Given the description of an element on the screen output the (x, y) to click on. 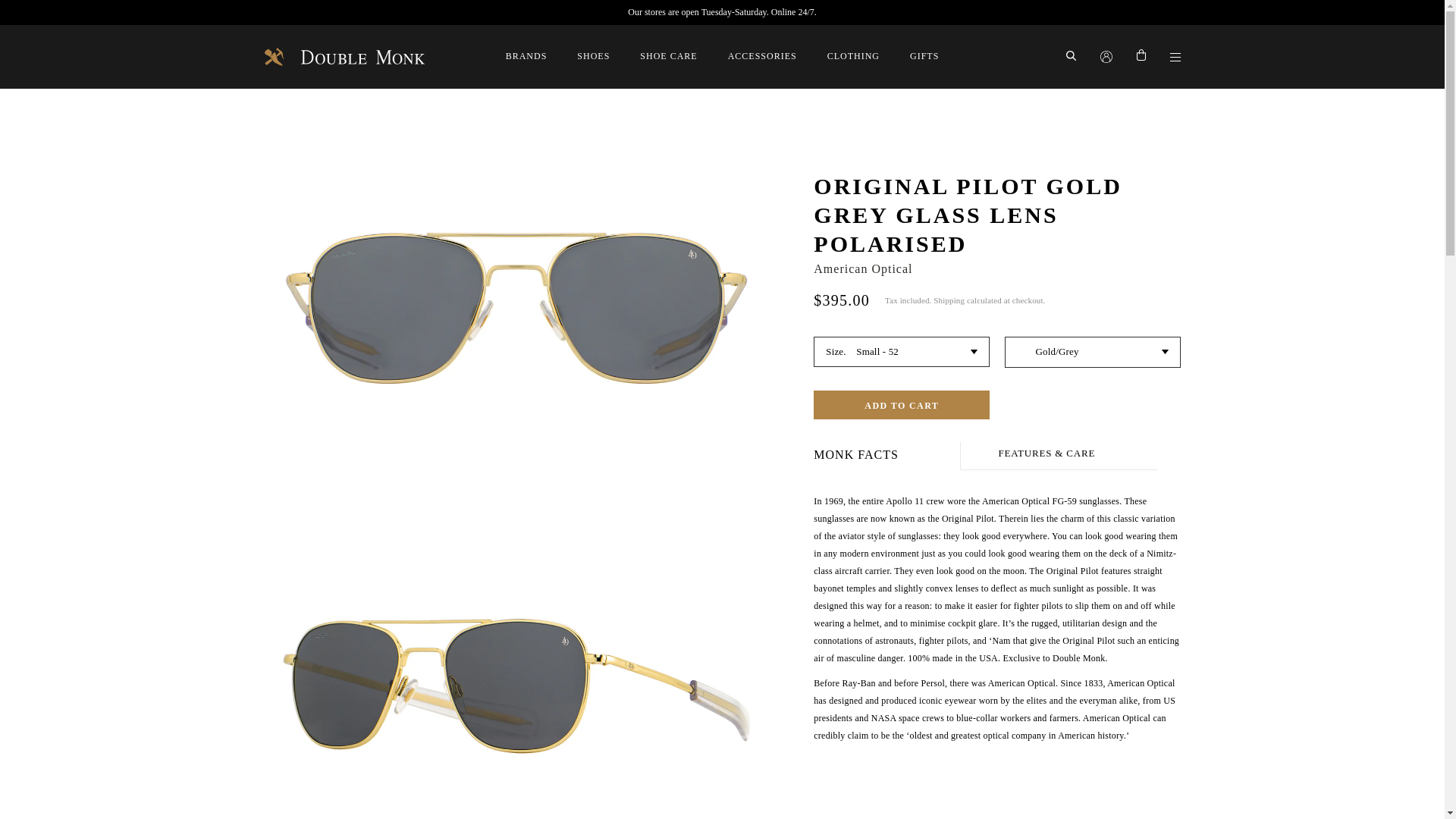
SHOES (593, 55)
SHOE CARE (668, 55)
American Optical (862, 268)
ACCESSORIES (762, 55)
GIFTS (924, 55)
CLOTHING (853, 55)
BRANDS (526, 55)
